Given the description of an element on the screen output the (x, y) to click on. 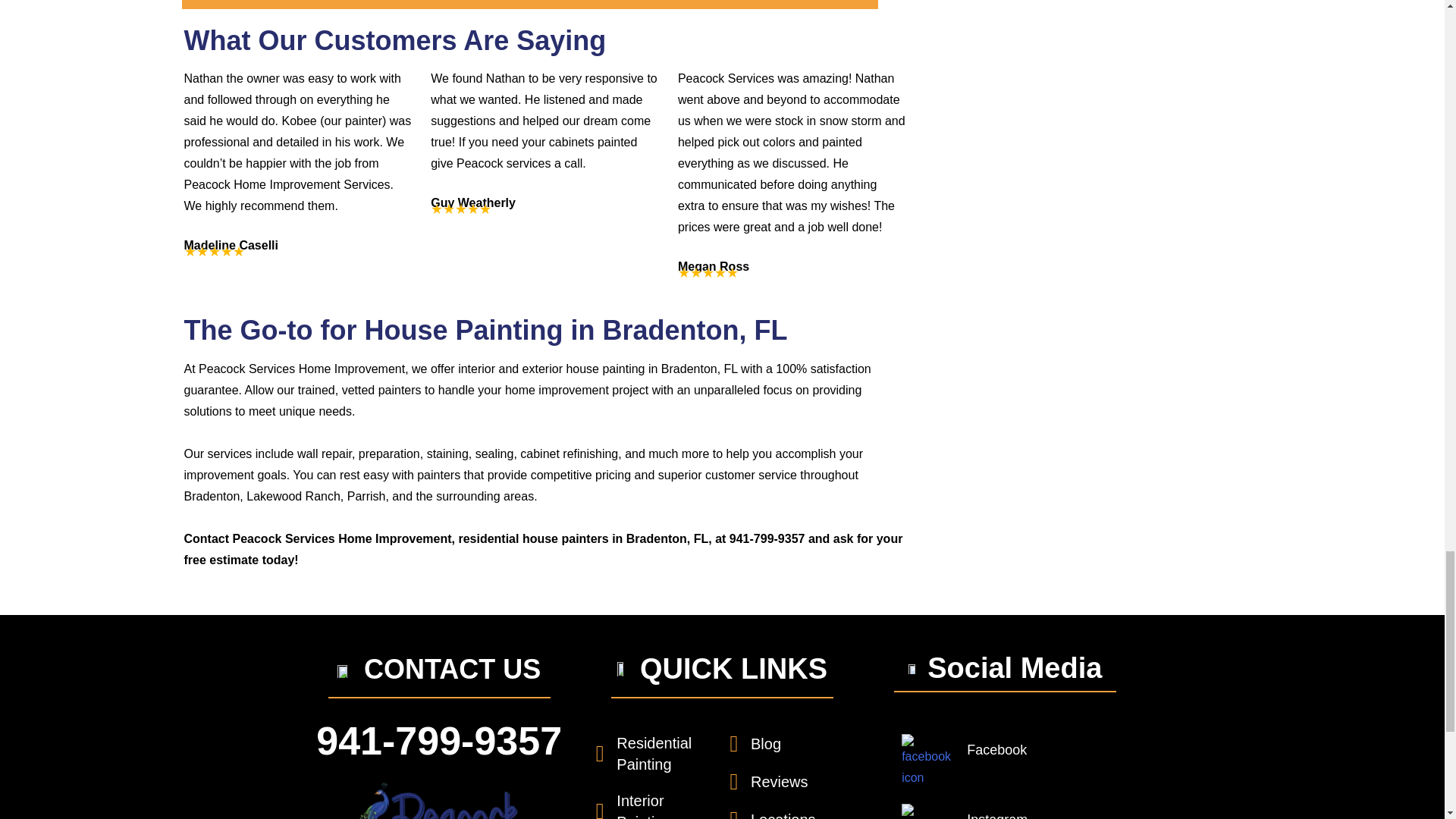
instagram (928, 811)
facebook icon (928, 760)
